Given the description of an element on the screen output the (x, y) to click on. 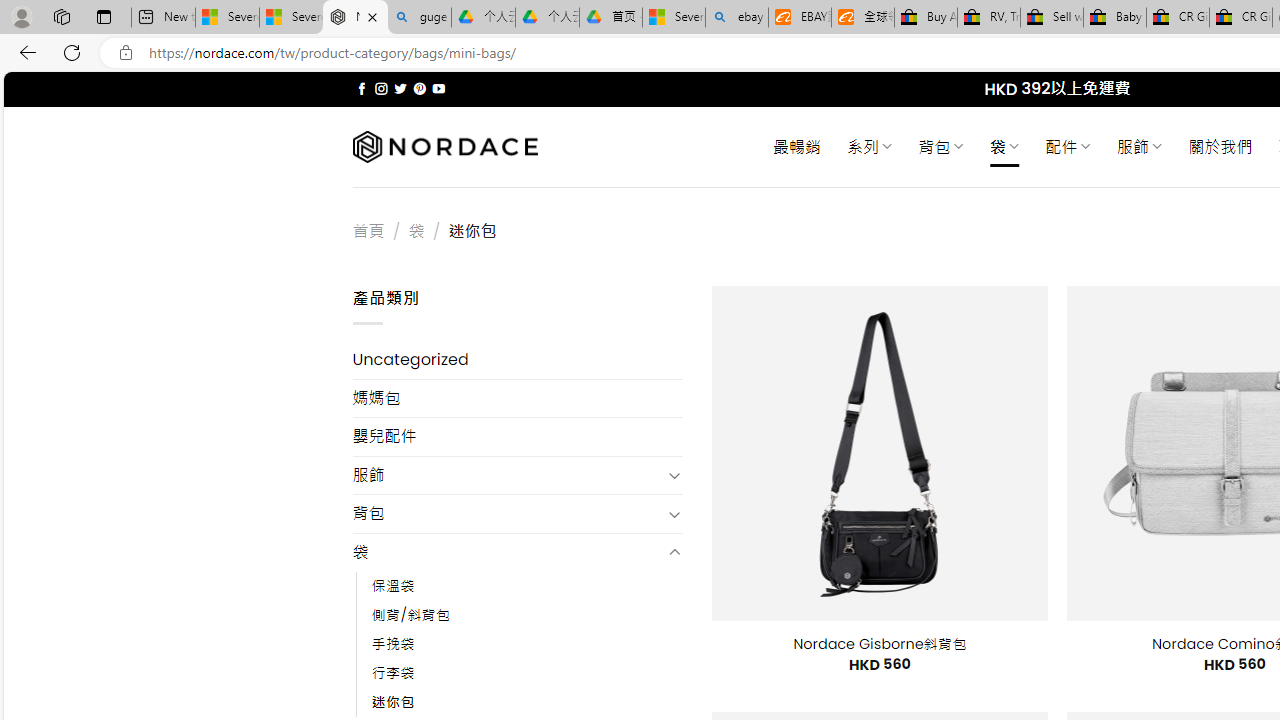
RV, Trailer & Camper Steps & Ladders for sale | eBay (988, 17)
Workspaces (61, 16)
Buy Auto Parts & Accessories | eBay (925, 17)
Nordace (444, 147)
View site information (125, 53)
Uncategorized (517, 359)
New tab (162, 17)
Uncategorized (517, 359)
Personal Profile (21, 16)
